Given the description of an element on the screen output the (x, y) to click on. 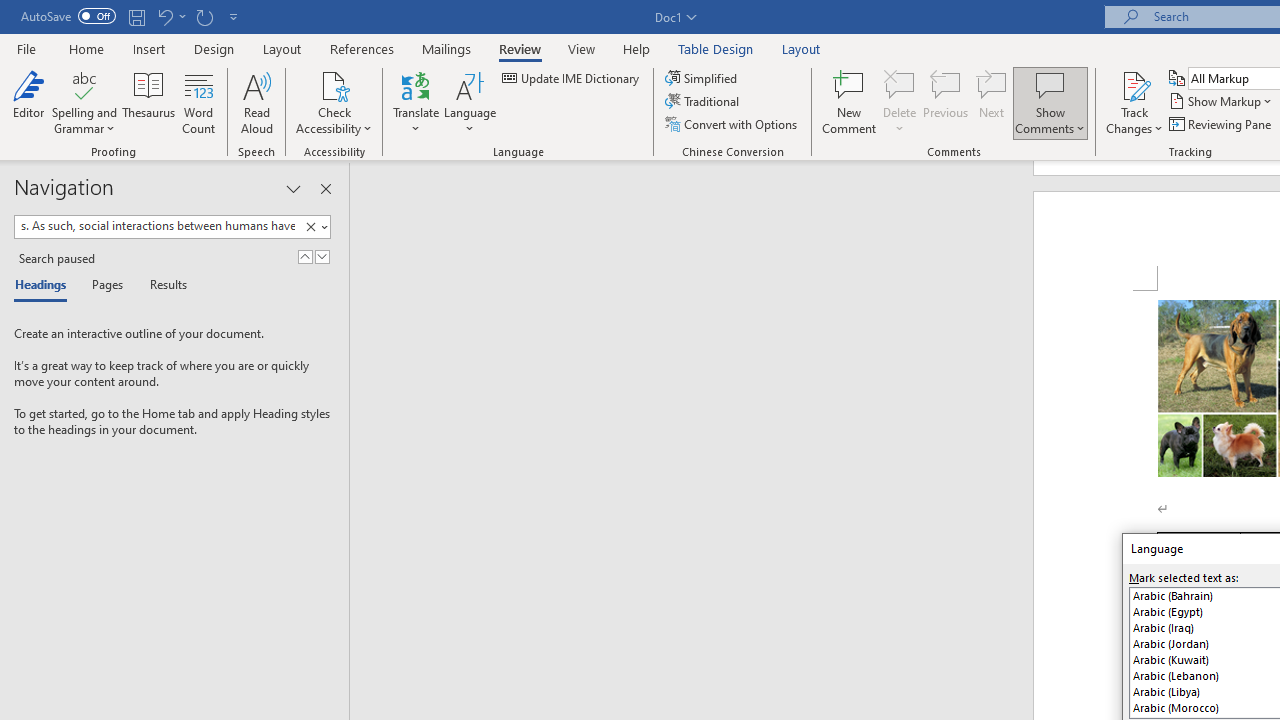
Thesaurus... (148, 102)
Delete (900, 84)
Simplified (702, 78)
Spelling and Grammar (84, 84)
Previous (946, 102)
Clear (314, 227)
Undo Style (170, 15)
New Comment (849, 102)
